Given the description of an element on the screen output the (x, y) to click on. 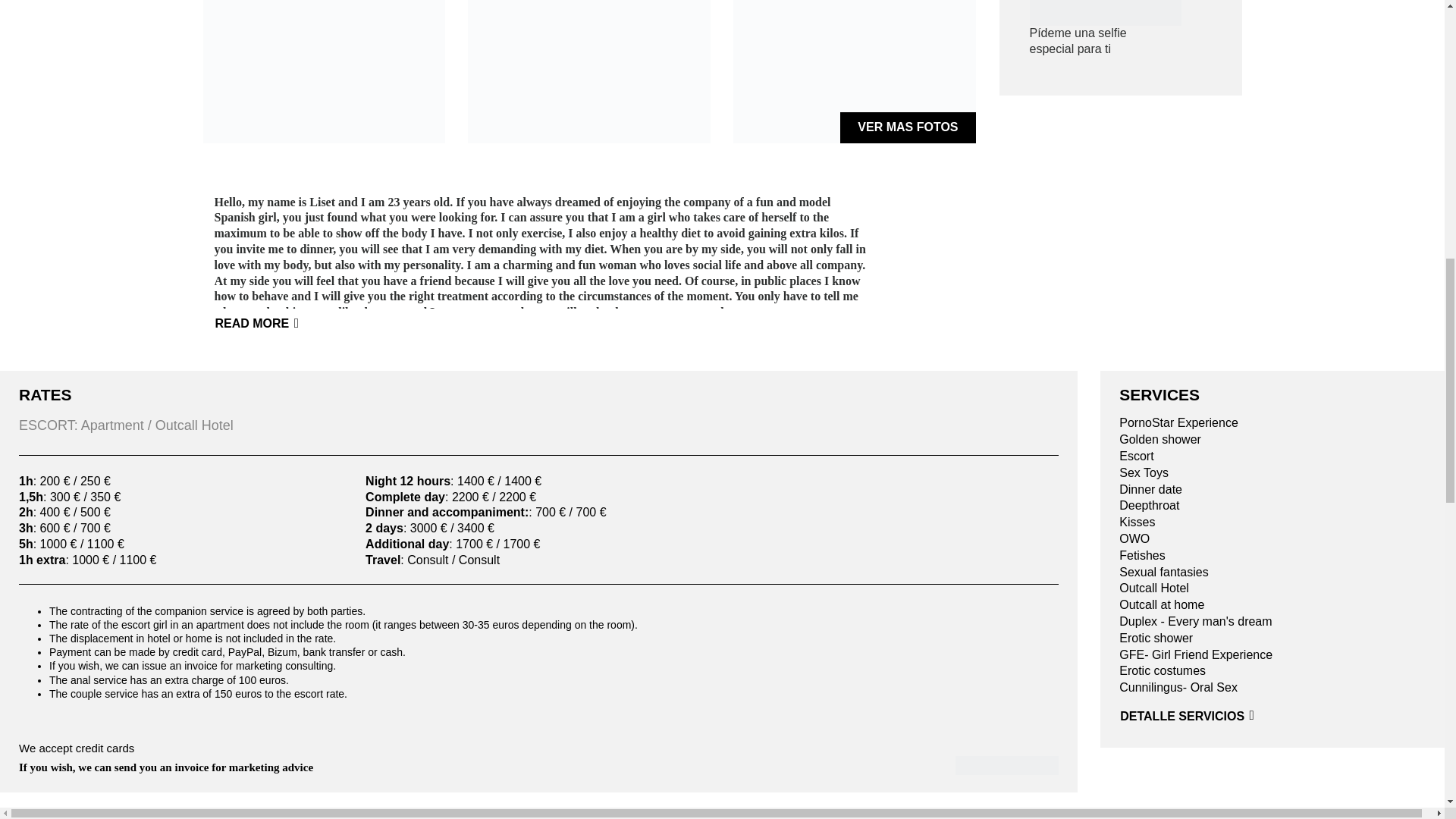
Escort (1272, 456)
OWO (1272, 539)
Dinner date (1272, 489)
Outcall at home (1272, 605)
Sex Toys (1272, 473)
Erotic shower (1272, 638)
Erotic costumes (1272, 671)
Golden shower (1272, 439)
Outcall Hotel (1272, 588)
PornoStar Experience (1272, 423)
Deepthroat (1272, 505)
READ MORE (264, 323)
VER MAS FOTOS (907, 127)
Fetishes (1272, 555)
Sexual fantasies (1272, 572)
